Given the description of an element on the screen output the (x, y) to click on. 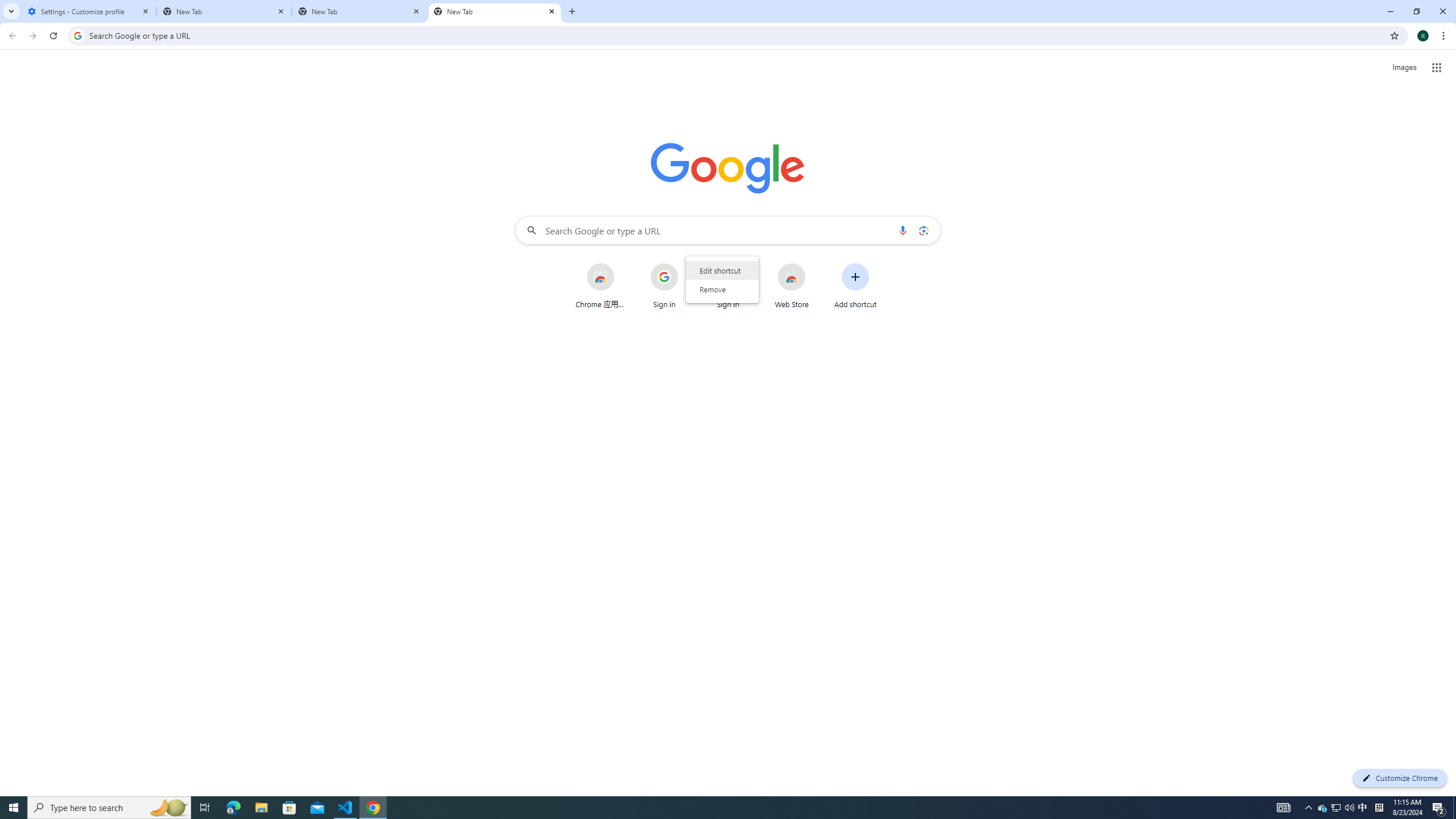
New Tab (494, 11)
